Given the description of an element on the screen output the (x, y) to click on. 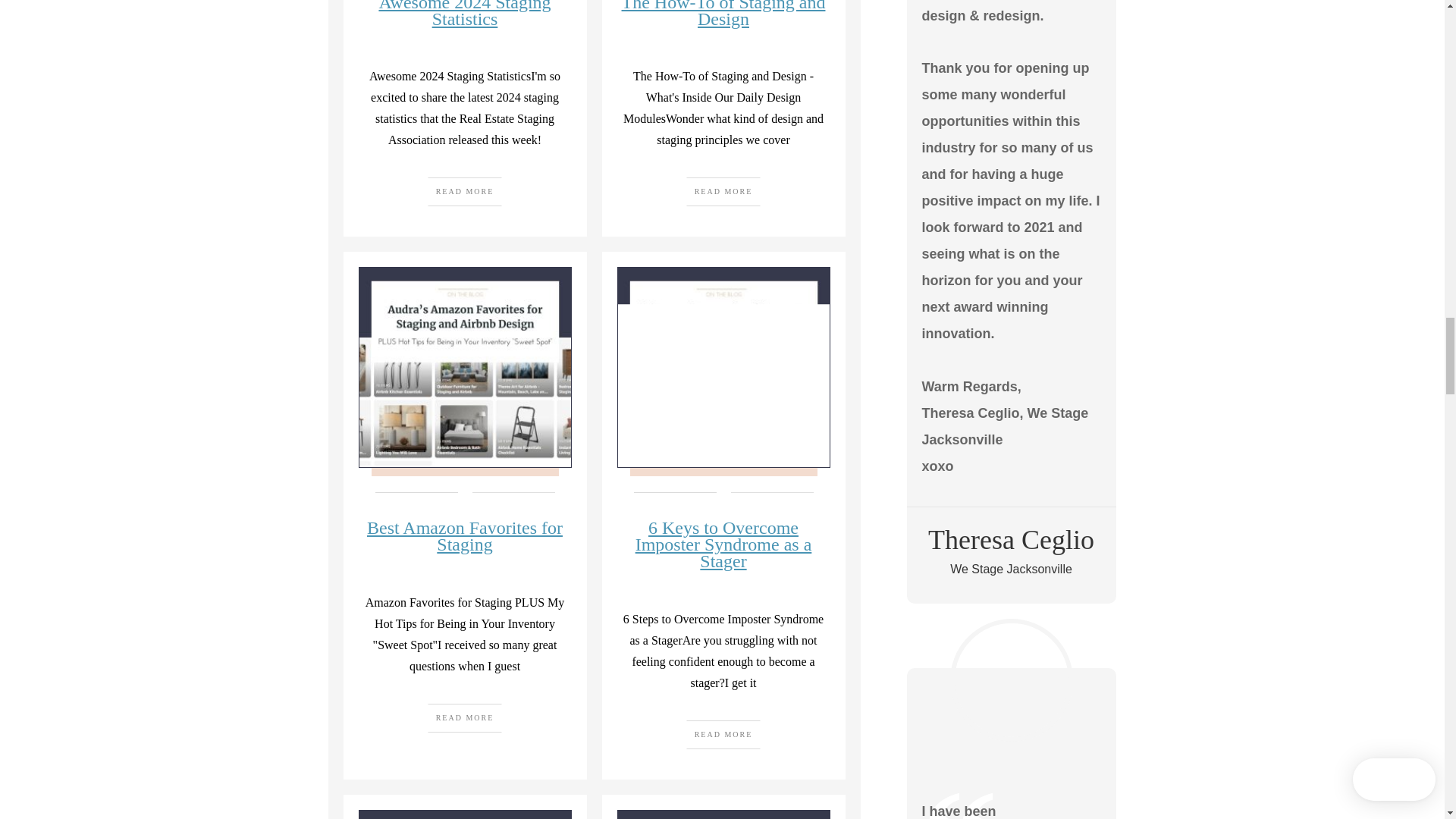
The How-To of Staging and Design (723, 14)
6 Keys to Overcome Imposter Syndrome as a Stager (723, 543)
Best Amazon Favorites for Staging (464, 535)
Awesome 2024 Staging Statistics (464, 14)
